Given the description of an element on the screen output the (x, y) to click on. 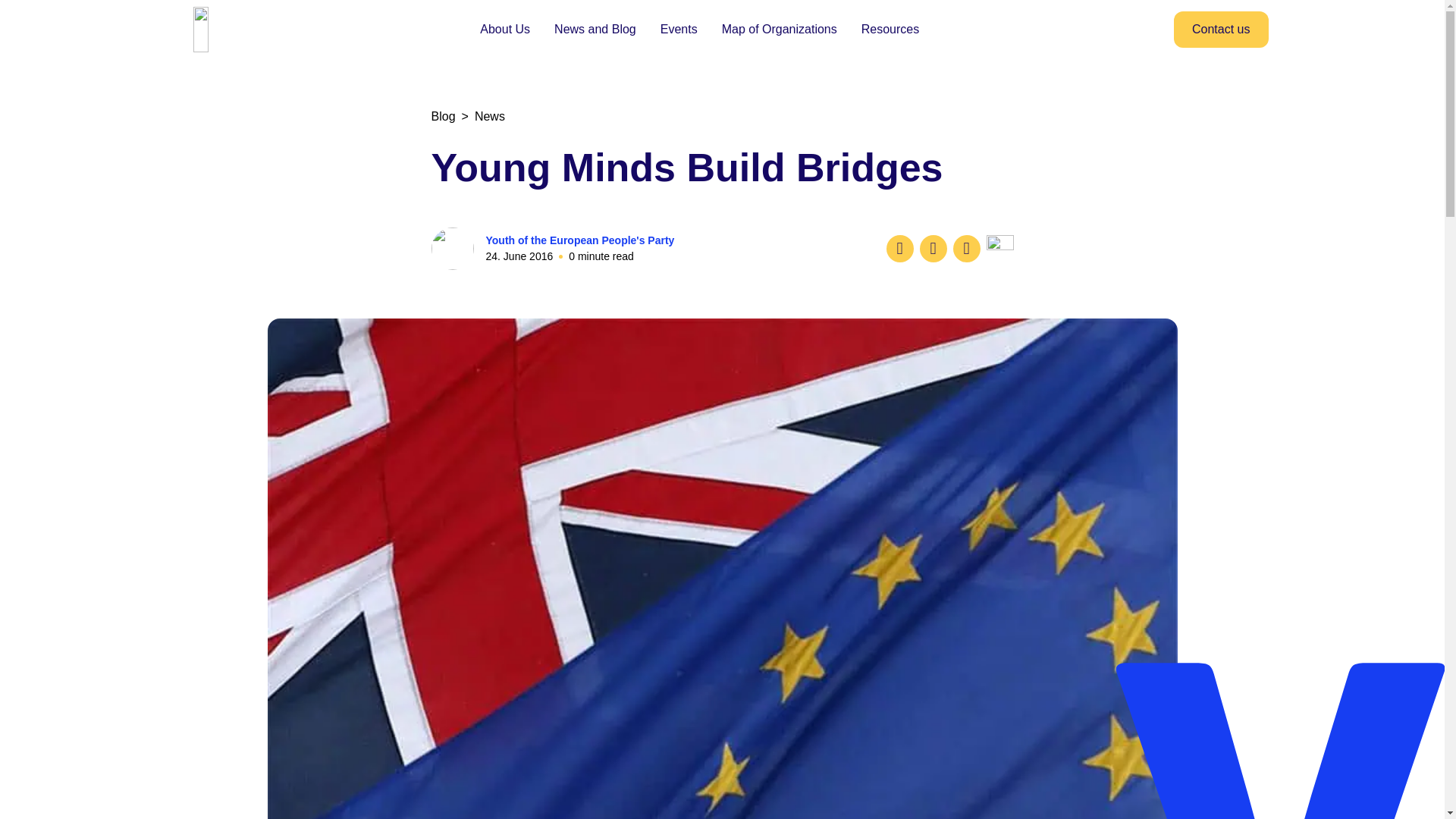
Resources (889, 29)
Events (679, 29)
Blog (442, 115)
Contact us (1220, 29)
About Us (504, 29)
Map of Organizations (779, 29)
News and Blog (595, 29)
